Given the description of an element on the screen output the (x, y) to click on. 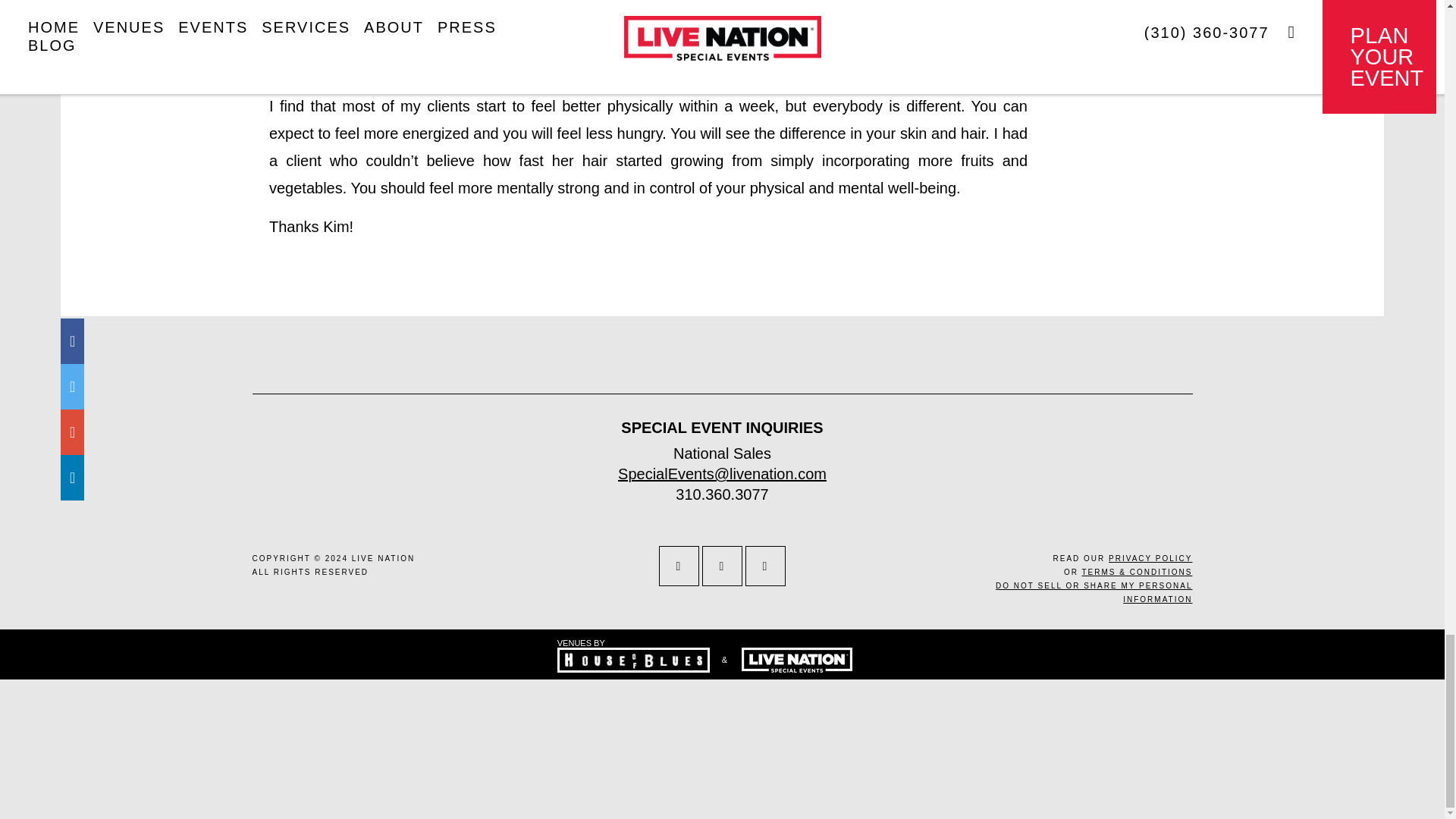
facebook (678, 566)
LIVE NATION (383, 558)
instagram (721, 566)
linkedin (765, 566)
PRIVACY POLICY (1150, 558)
310.360.3077 (721, 494)
